Given the description of an element on the screen output the (x, y) to click on. 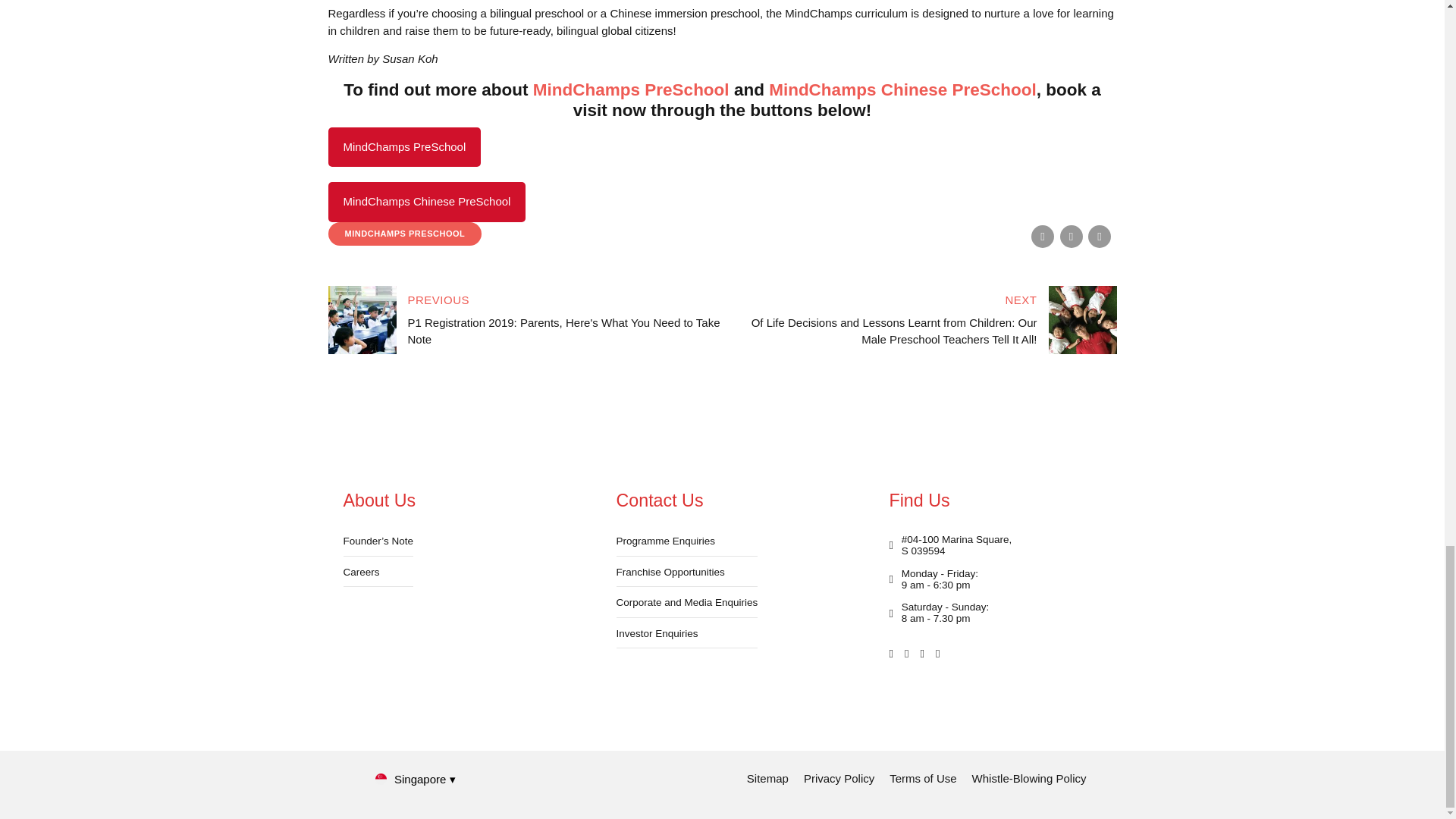
Share on Linkedin (1098, 236)
Share on Facebook (1042, 236)
Share on Twitter (1071, 236)
